Given the description of an element on the screen output the (x, y) to click on. 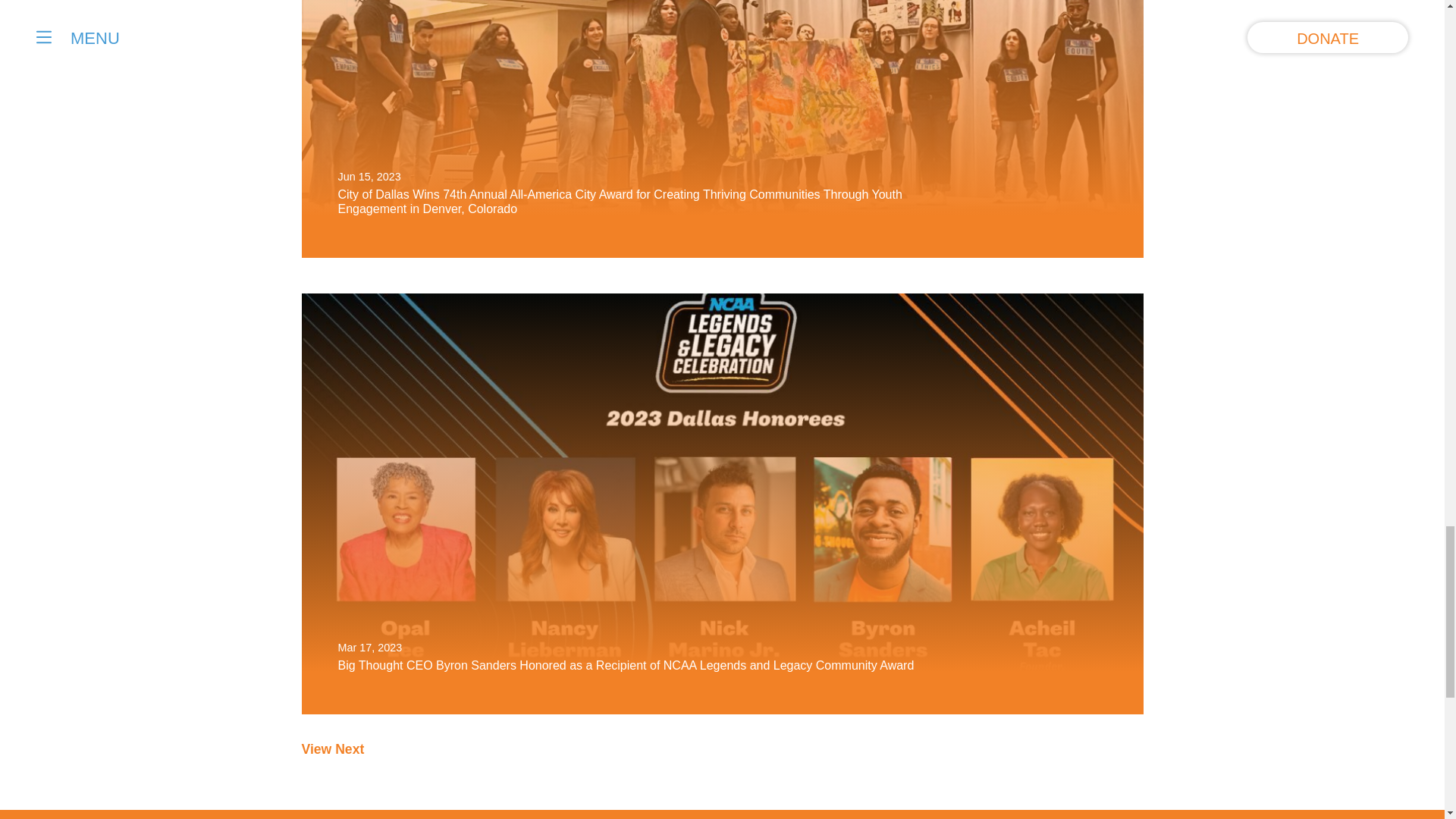
View Next (333, 749)
